Given the description of an element on the screen output the (x, y) to click on. 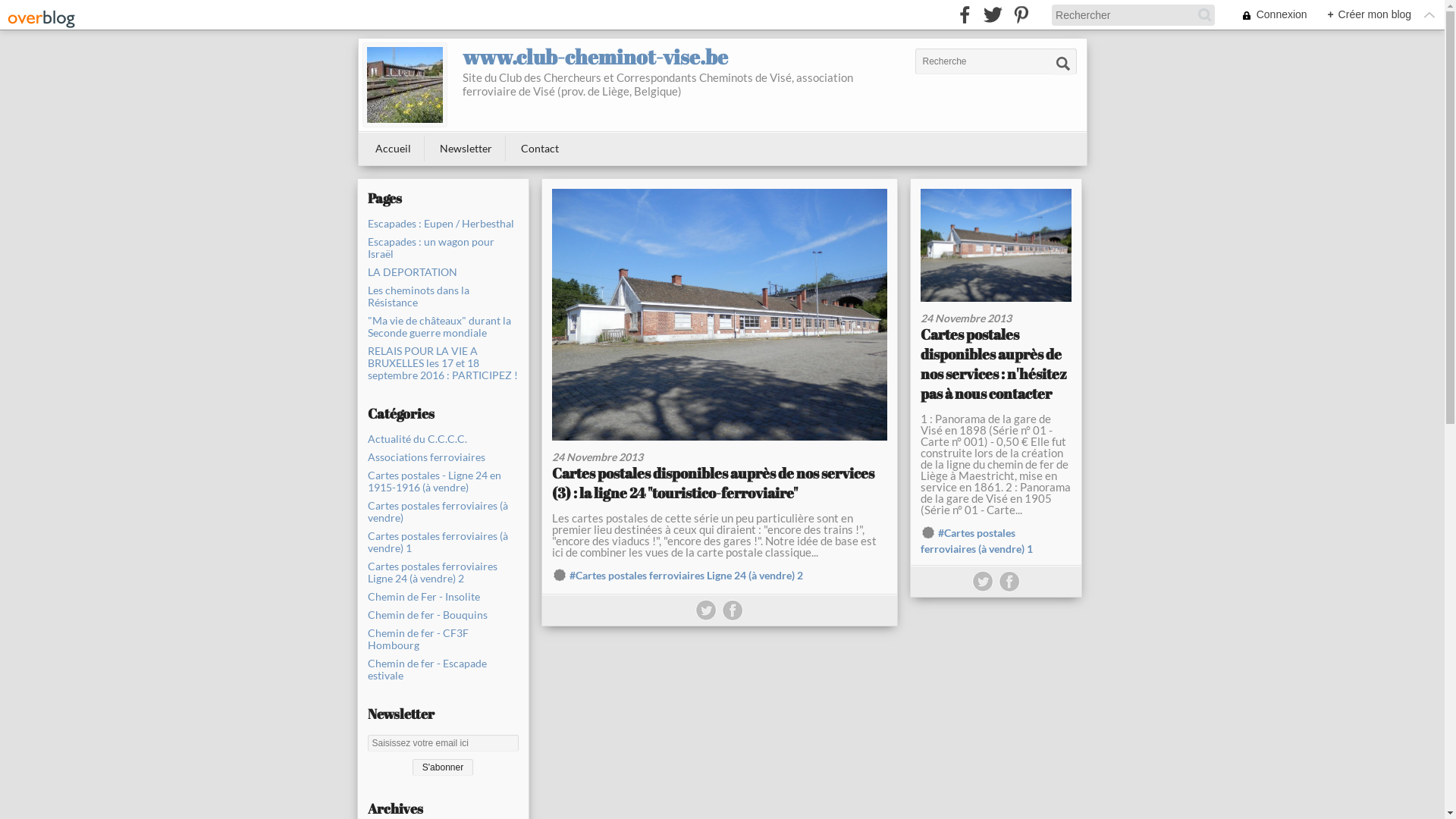
Chemin de fer - Escapade estivale Element type: text (442, 669)
www.club-cheminot-vise.be Element type: hover (404, 84)
 twitter Element type: hover (992, 14)
Accueil Element type: text (393, 148)
Associations ferroviaires Element type: text (442, 457)
 pinterest Element type: hover (1020, 14)
Chemin de fer - CF3F Hombourg Element type: text (442, 639)
Chemin de fer - Bouquins Element type: text (442, 614)
Chemin de Fer - Insolite Element type: text (442, 596)
www.club-cheminot-vise.be Element type: text (595, 56)
Connexion Element type: text (1266, 14)
Recherche Element type: text (1061, 65)
 facebook Element type: hover (964, 14)
Newsletter Element type: text (464, 148)
LA DEPORTATION Element type: text (442, 272)
S'abonner Element type: text (442, 767)
Contact Element type: text (539, 148)
Escapades : Eupen / Herbesthal Element type: text (442, 223)
Recherche Element type: hover (1061, 65)
